Given the description of an element on the screen output the (x, y) to click on. 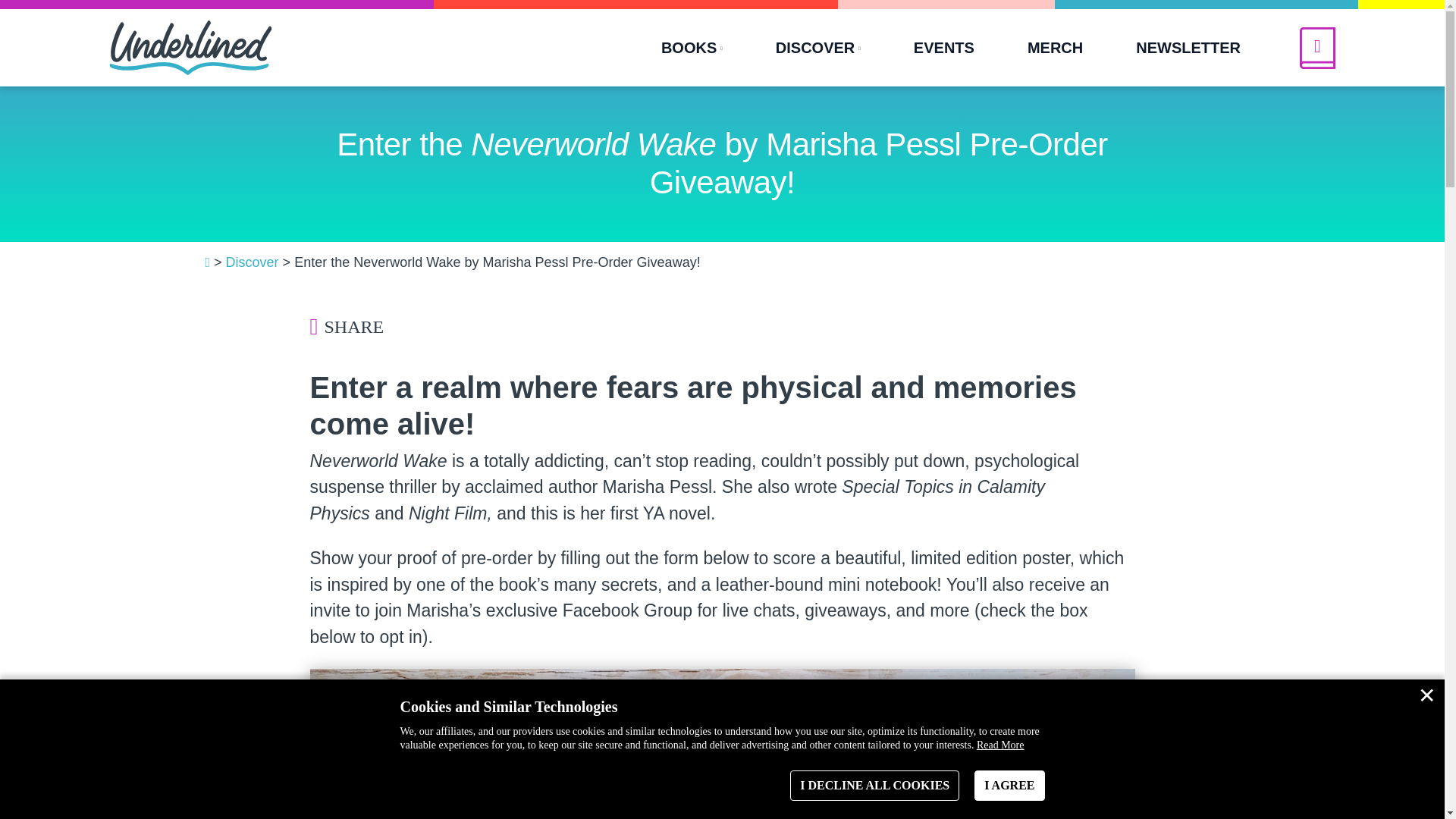
Discover (252, 262)
EVENTS (944, 47)
NEWSLETTER (1188, 47)
MERCH (1054, 47)
BOOKS (692, 47)
DISCOVER (818, 47)
